Given the description of an element on the screen output the (x, y) to click on. 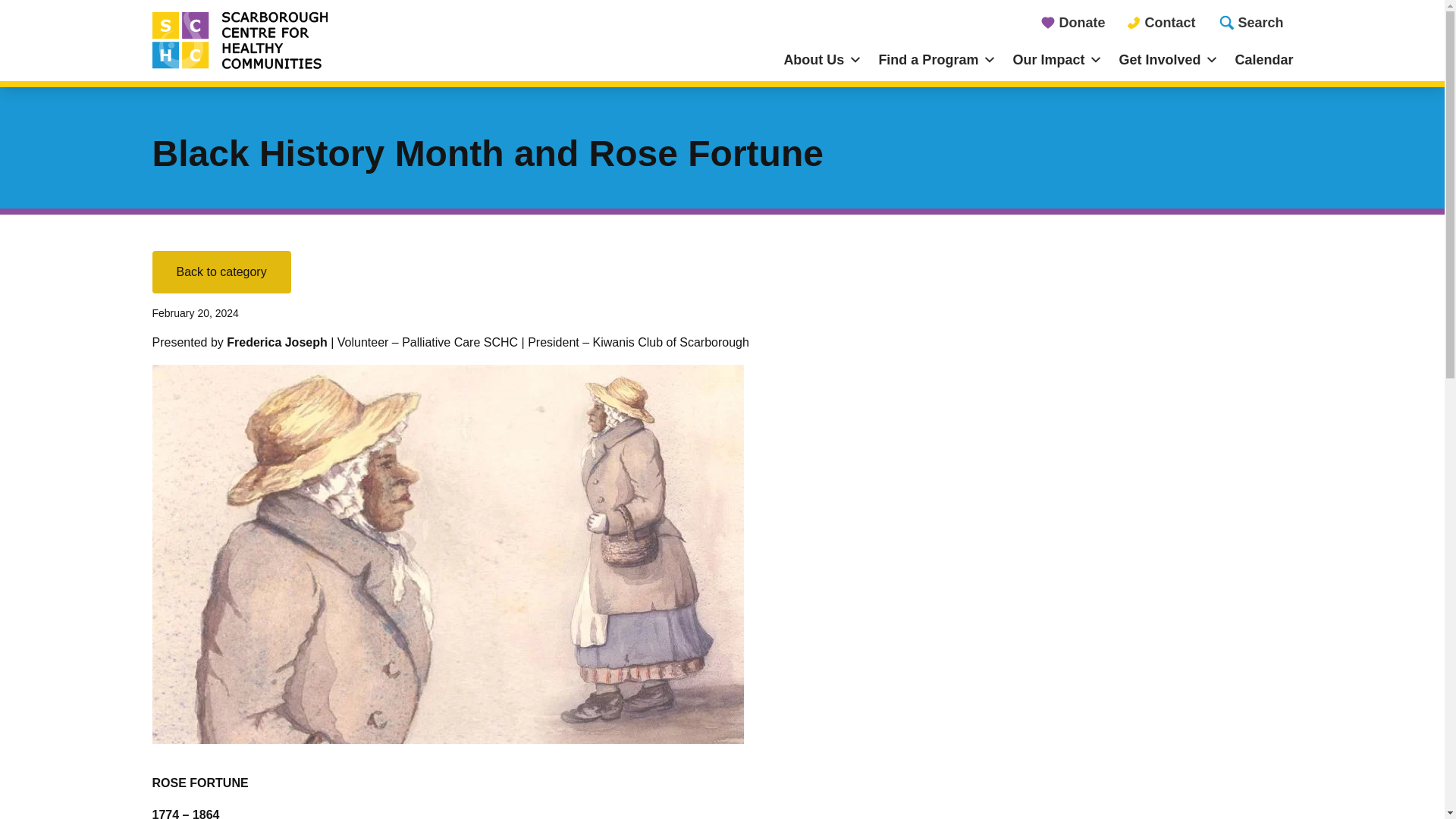
About Us (822, 59)
Find a Program (937, 59)
Donate (1071, 22)
Search (1249, 22)
Home (293, 40)
Contact (1160, 22)
